Given the description of an element on the screen output the (x, y) to click on. 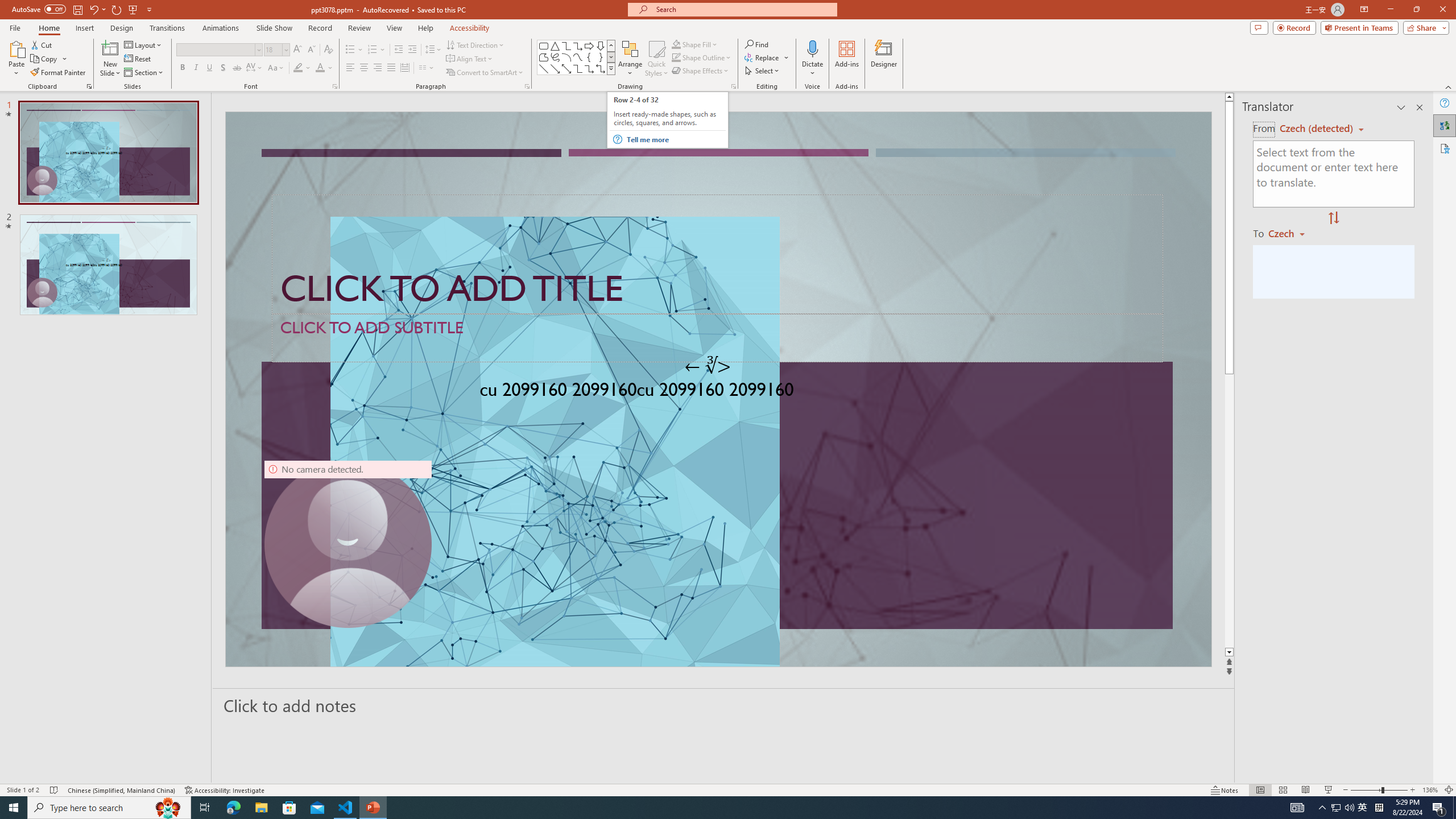
Find... (756, 44)
Reset (138, 58)
Slide Notes (724, 705)
Italic (195, 67)
Font... (334, 85)
Swap "from" and "to" languages. (1333, 218)
Character Spacing (254, 67)
Freeform: Shape (543, 57)
